Given the description of an element on the screen output the (x, y) to click on. 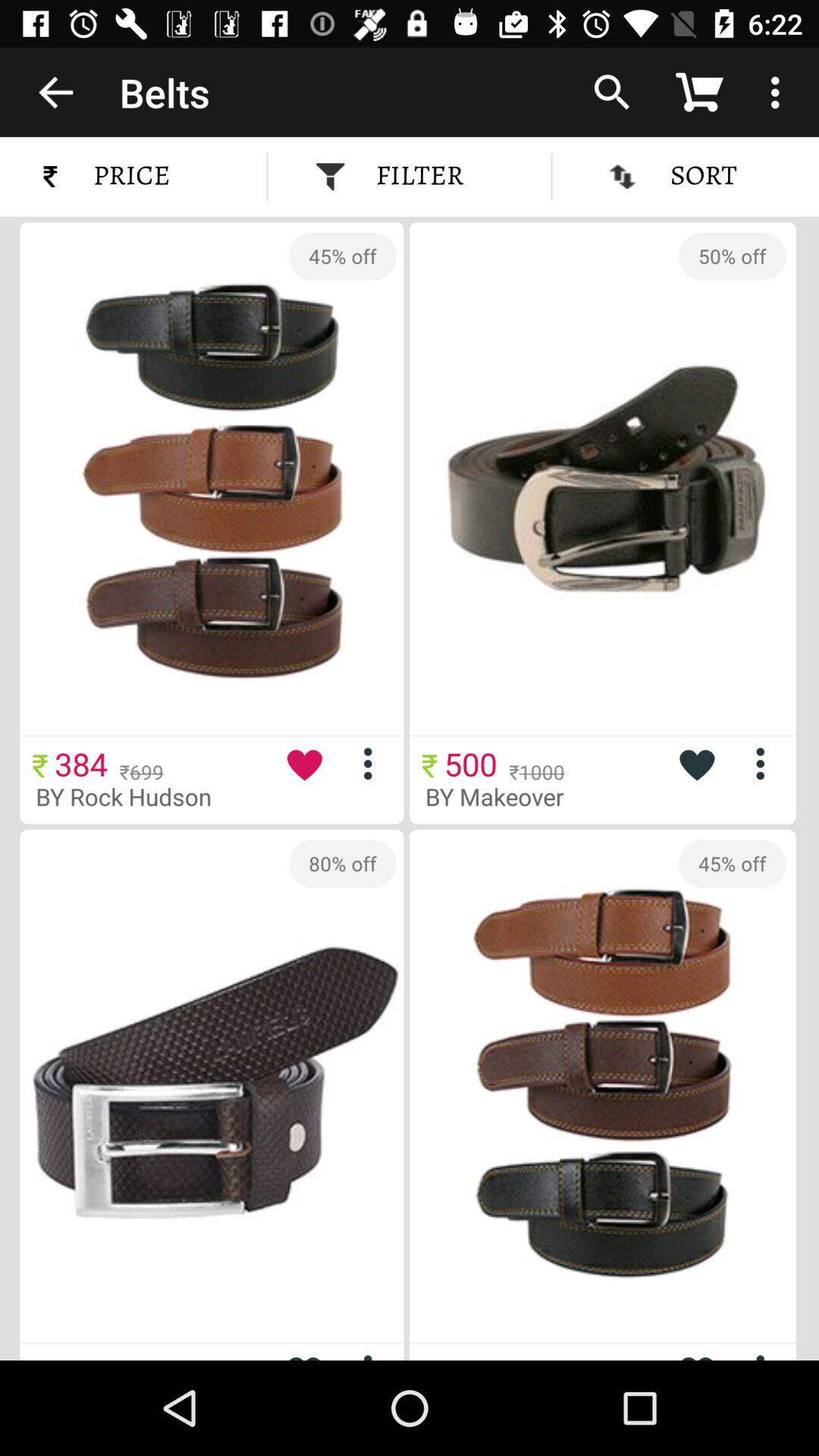
select item to the left of the belts app (55, 92)
